Given the description of an element on the screen output the (x, y) to click on. 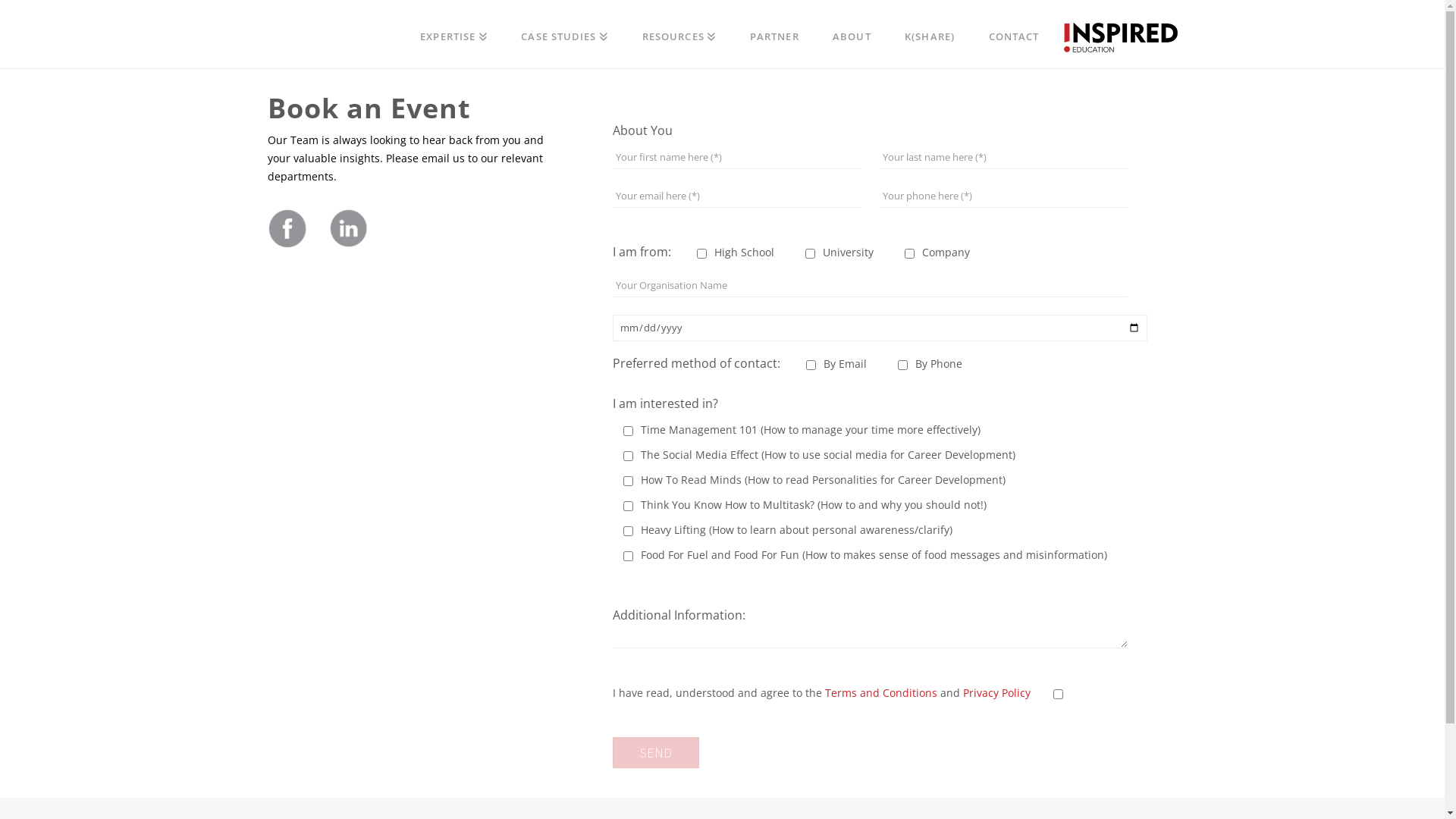
RESOURCES Element type: text (679, 34)
SEND Element type: text (655, 752)
ABOUT Element type: text (851, 34)
K(SHARE) Element type: text (929, 34)
Privacy Policy Element type: text (996, 692)
Terms and Conditions Element type: text (881, 692)
EXPERTISE Element type: text (453, 34)
CASE STUDIES Element type: text (564, 34)
CONTACT Element type: text (1013, 34)
PARTNER Element type: text (774, 34)
